Given the description of an element on the screen output the (x, y) to click on. 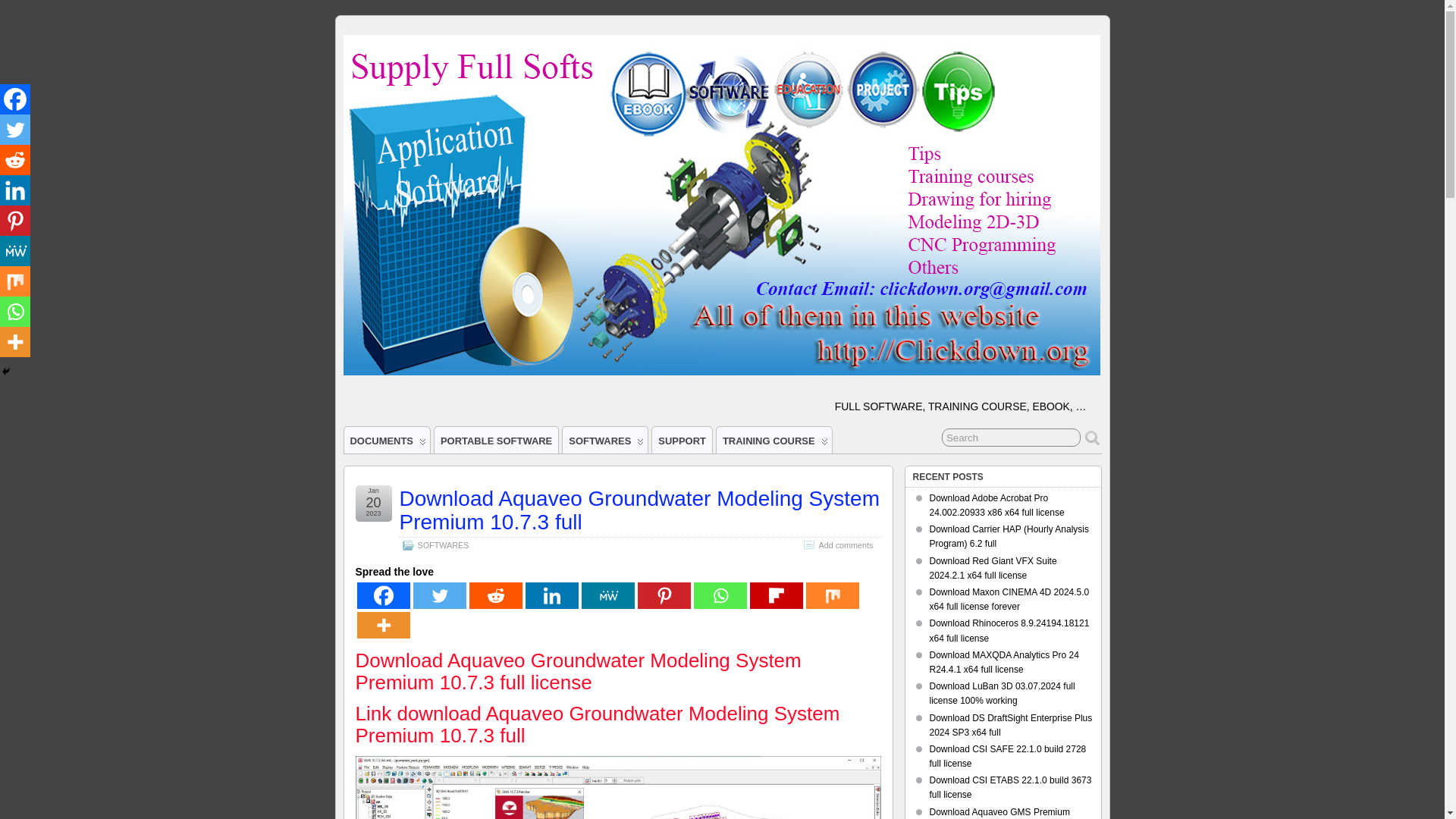
Mix (832, 595)
Reddit (494, 595)
 DOCUMENTS (386, 439)
 SOFTWARES (604, 439)
Twitter (438, 595)
Flipboard (775, 595)
Linkedin (551, 595)
SUPPORT (681, 439)
Add comments (845, 544)
PORTABLE SOFTWARE (495, 439)
Search (1011, 437)
Facebook (382, 595)
SOFTWARES (442, 544)
Whatsapp (719, 595)
